Given the description of an element on the screen output the (x, y) to click on. 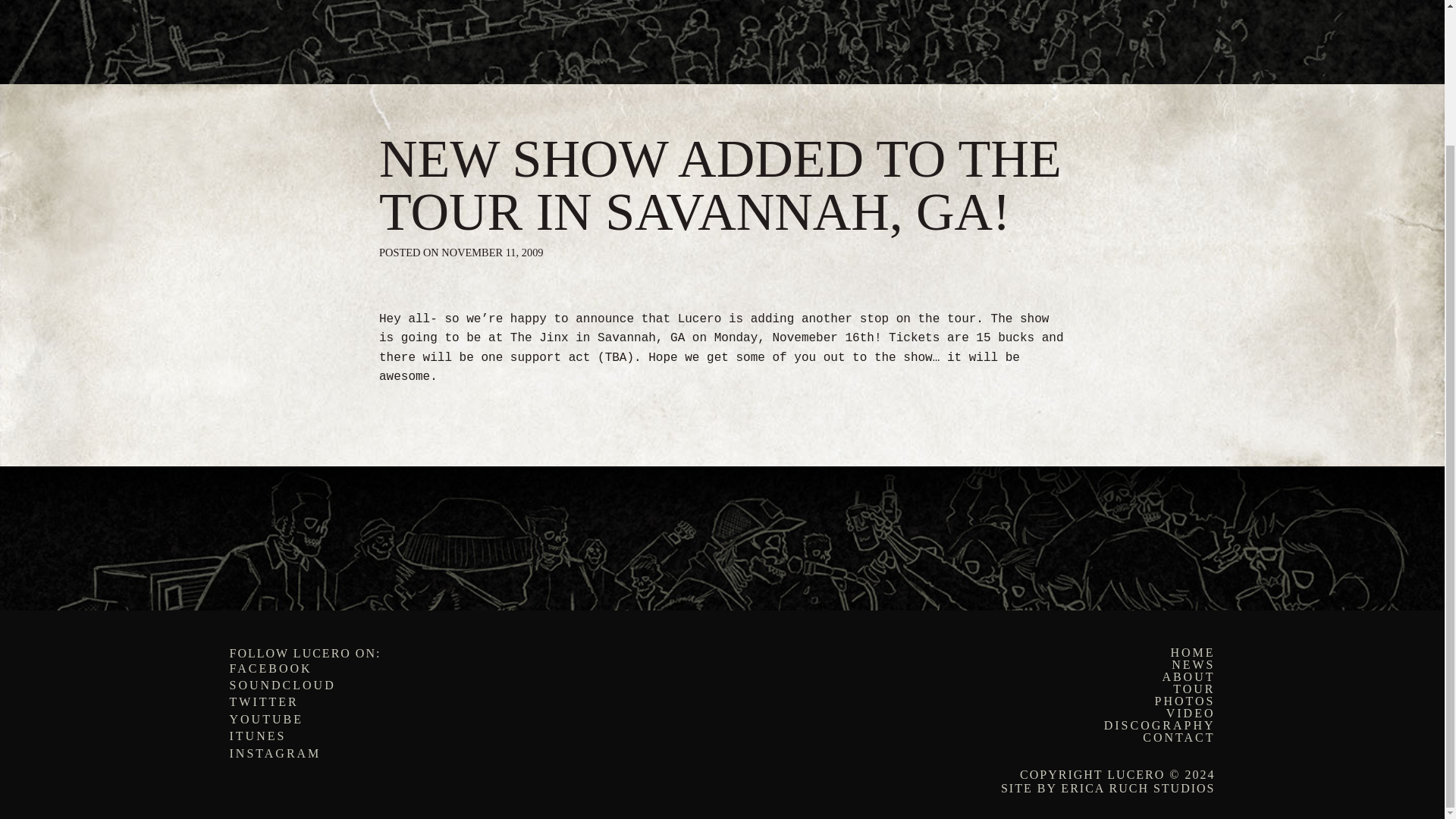
ABOUT (974, 676)
ERICA RUCH STUDIOS (1137, 788)
TWITTER (263, 701)
FACEBOOK (269, 667)
PHOTOS (974, 701)
ITUNES (256, 735)
DISCOGRAPHY (974, 725)
CONTACT (974, 737)
SOUNDCLOUD (281, 684)
NOVEMBER 11, 2009 (492, 252)
YOUTUBE (265, 718)
TOUR (974, 689)
VIDEO (974, 713)
HOME (974, 653)
INSTAGRAM (274, 753)
